Given the description of an element on the screen output the (x, y) to click on. 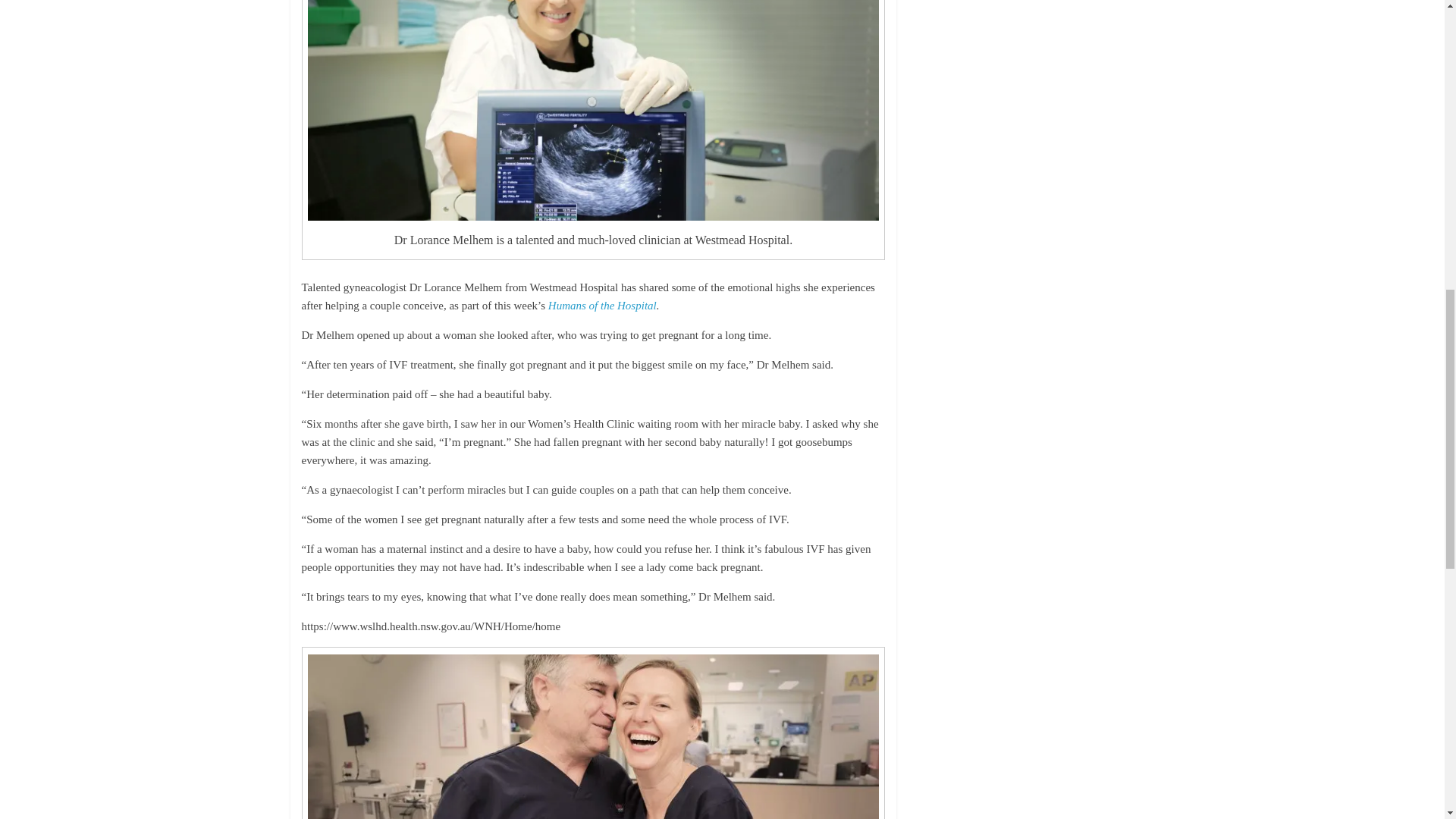
Humans of the Hospital (602, 305)
Dr Lorance Melhem (593, 110)
